Given the description of an element on the screen output the (x, y) to click on. 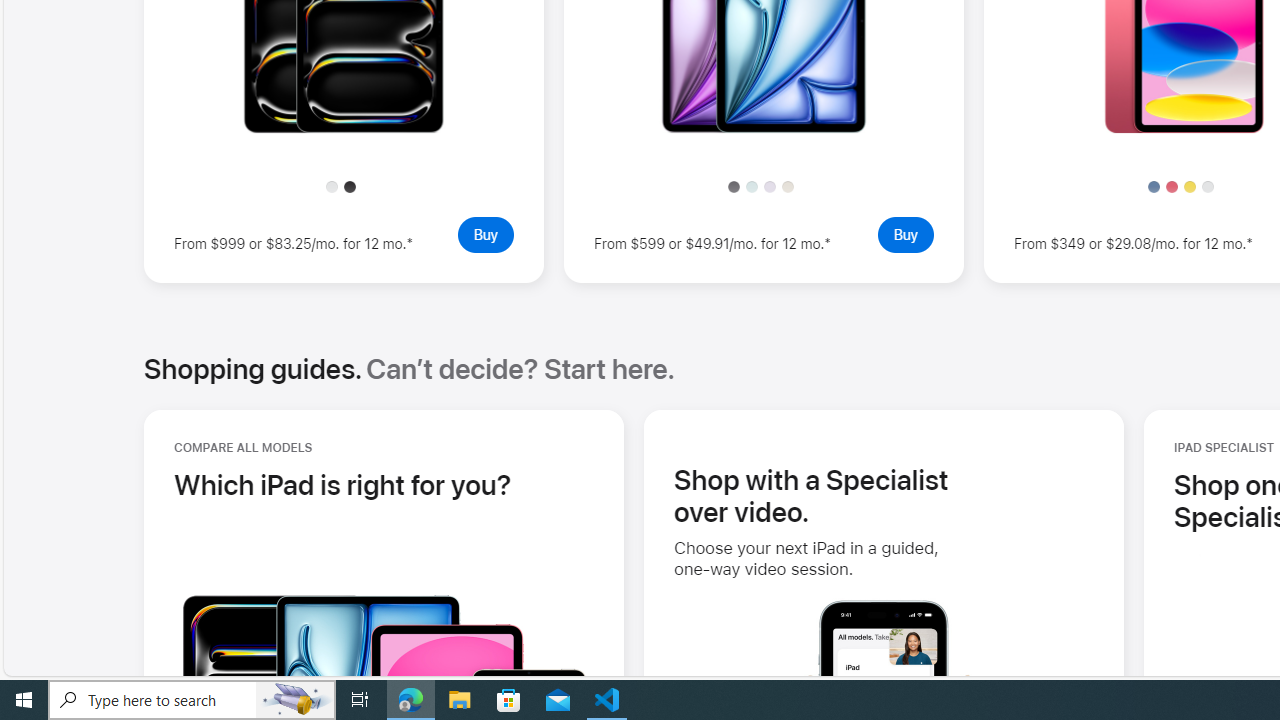
Blue (1153, 186)
Take a closer look - iPad Pro  (343, 128)
Silver (1207, 186)
Space Black (349, 186)
Pink (1171, 186)
Space Gray (733, 186)
Pink (1171, 186)
Purple (769, 186)
Purple (769, 186)
Buy - iPad Air  (905, 234)
Starlight (787, 186)
Space Gray (733, 186)
Shop with a Specialist over video. - (Opens in a new window) (811, 495)
Space Black (349, 186)
Take a closer look - iPad Air  (763, 128)
